Given the description of an element on the screen output the (x, y) to click on. 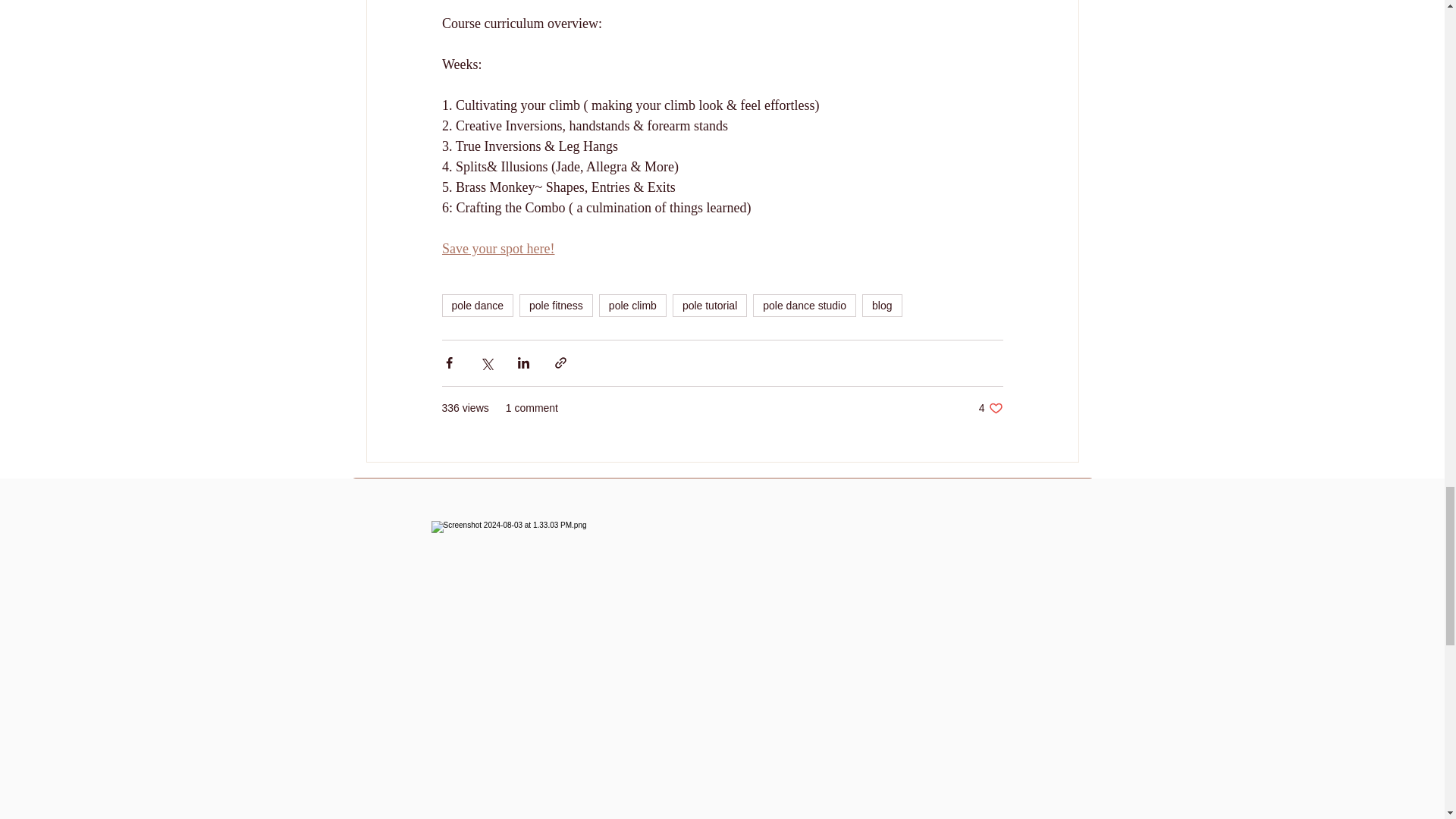
pole tutorial (709, 305)
pole climb (632, 305)
Save your spot here! (497, 248)
pole fitness (555, 305)
blog (990, 408)
pole dance (881, 305)
pole dance studio (477, 305)
